Given the description of an element on the screen output the (x, y) to click on. 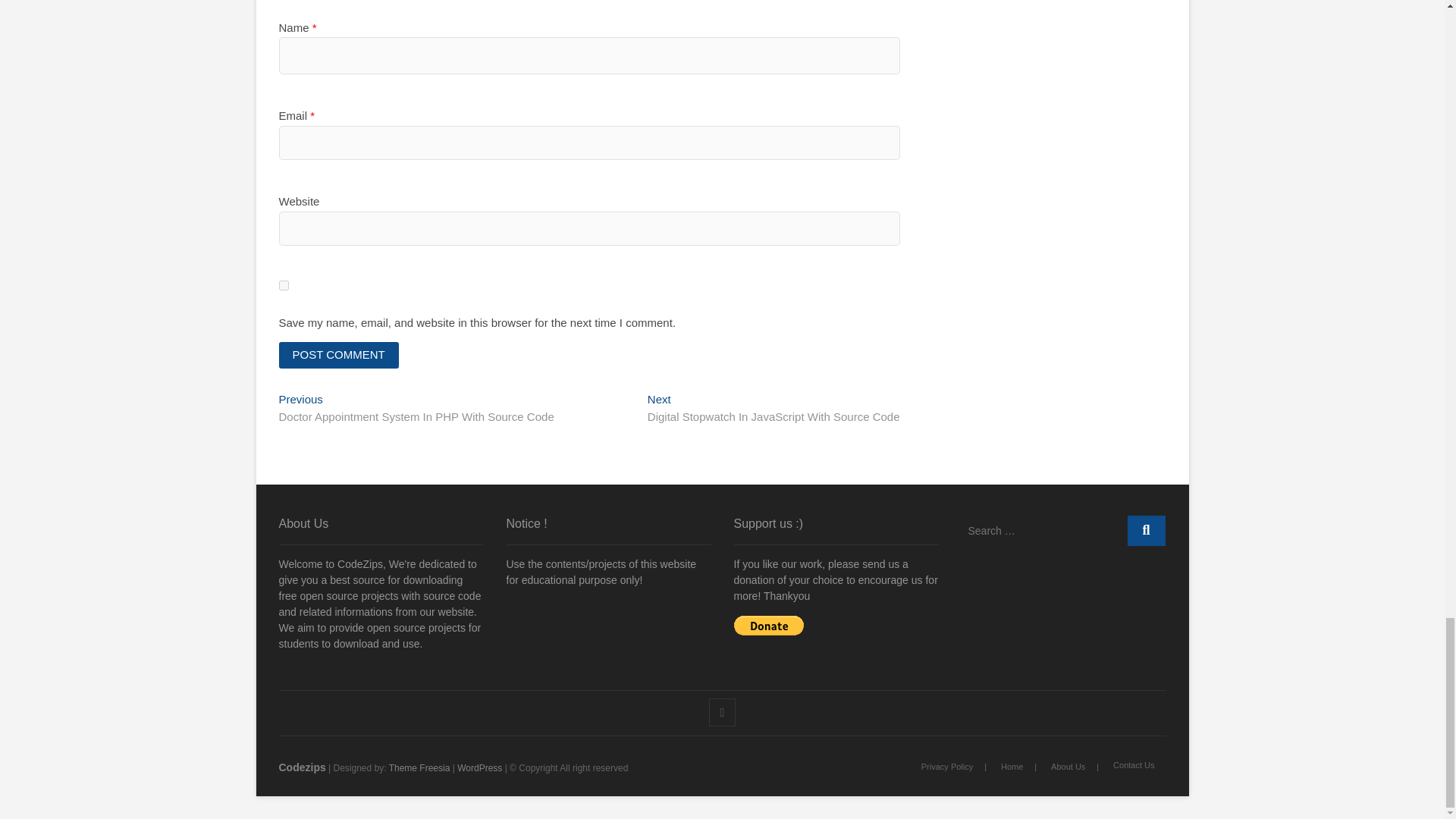
Post Comment (338, 355)
Post Comment (338, 355)
yes (283, 285)
